Given the description of an element on the screen output the (x, y) to click on. 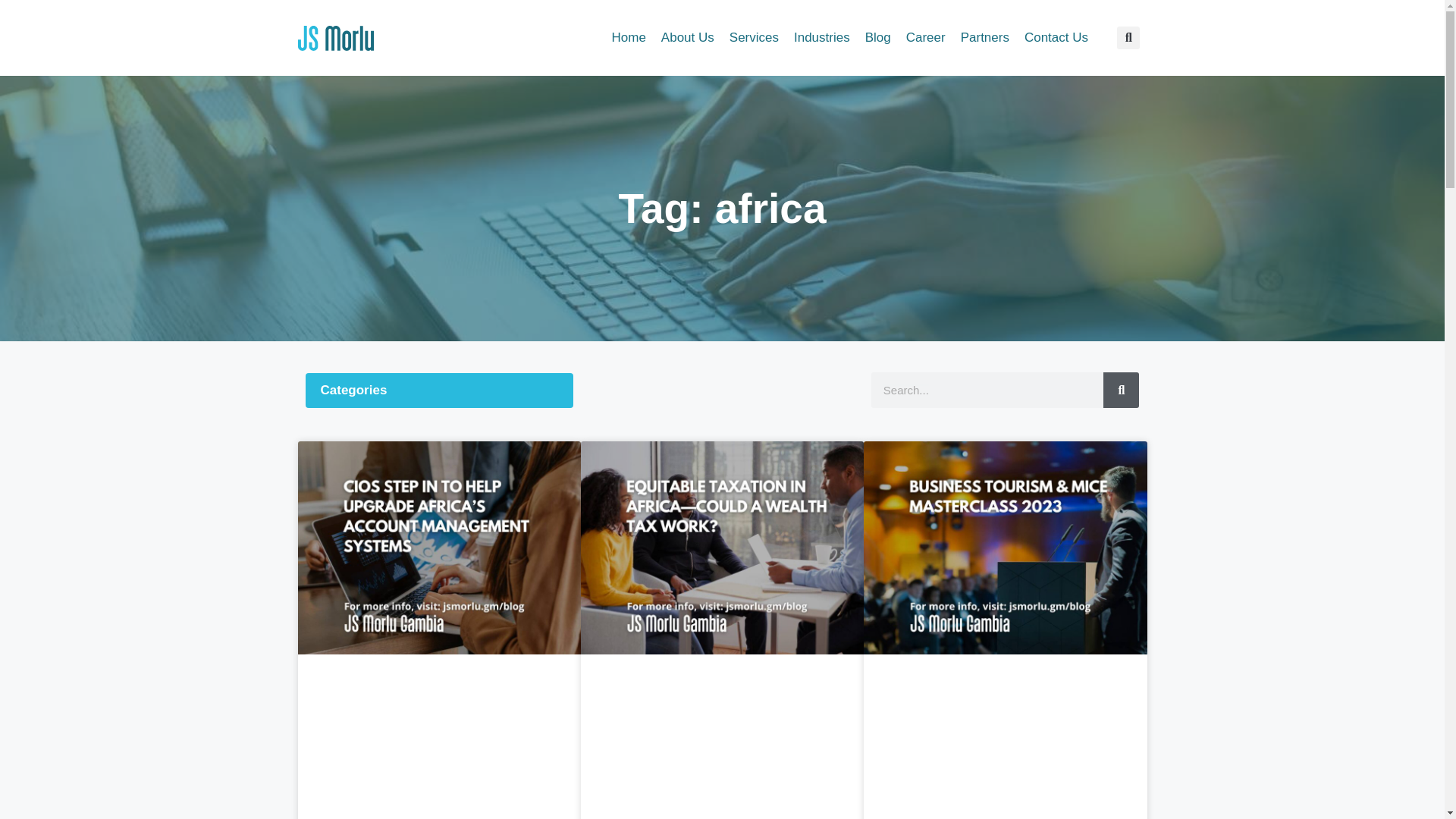
jsmorlu-site-logo (334, 37)
